Given the description of an element on the screen output the (x, y) to click on. 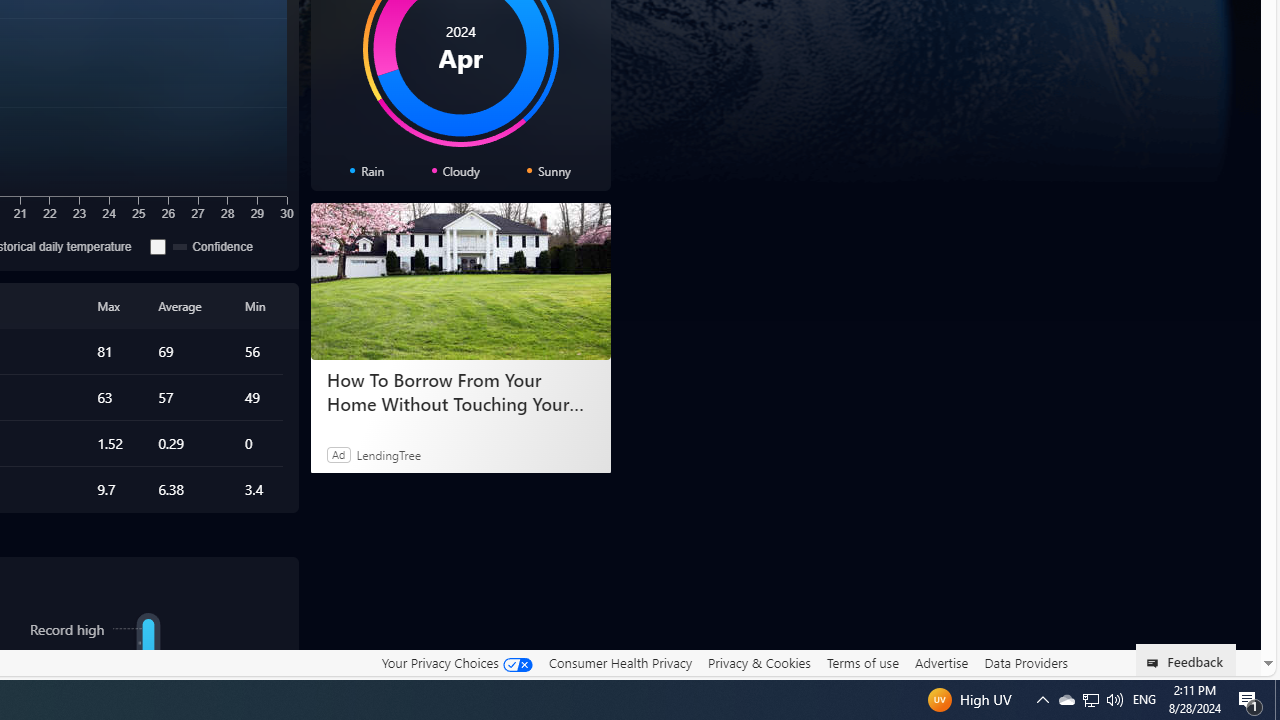
Your Privacy Choices (456, 663)
Consumer Health Privacy (619, 663)
Confidence (214, 246)
Discover the Most Luxurious Homes in Dubai (460, 391)
Terms of use (861, 662)
Consumer Health Privacy (619, 662)
Terms of use (861, 663)
Data Providers (1025, 663)
Confidence (157, 246)
Privacy & Cookies (759, 663)
Class: feedback_link_icon-DS-EntryPoint1-1 (1156, 663)
